Given the description of an element on the screen output the (x, y) to click on. 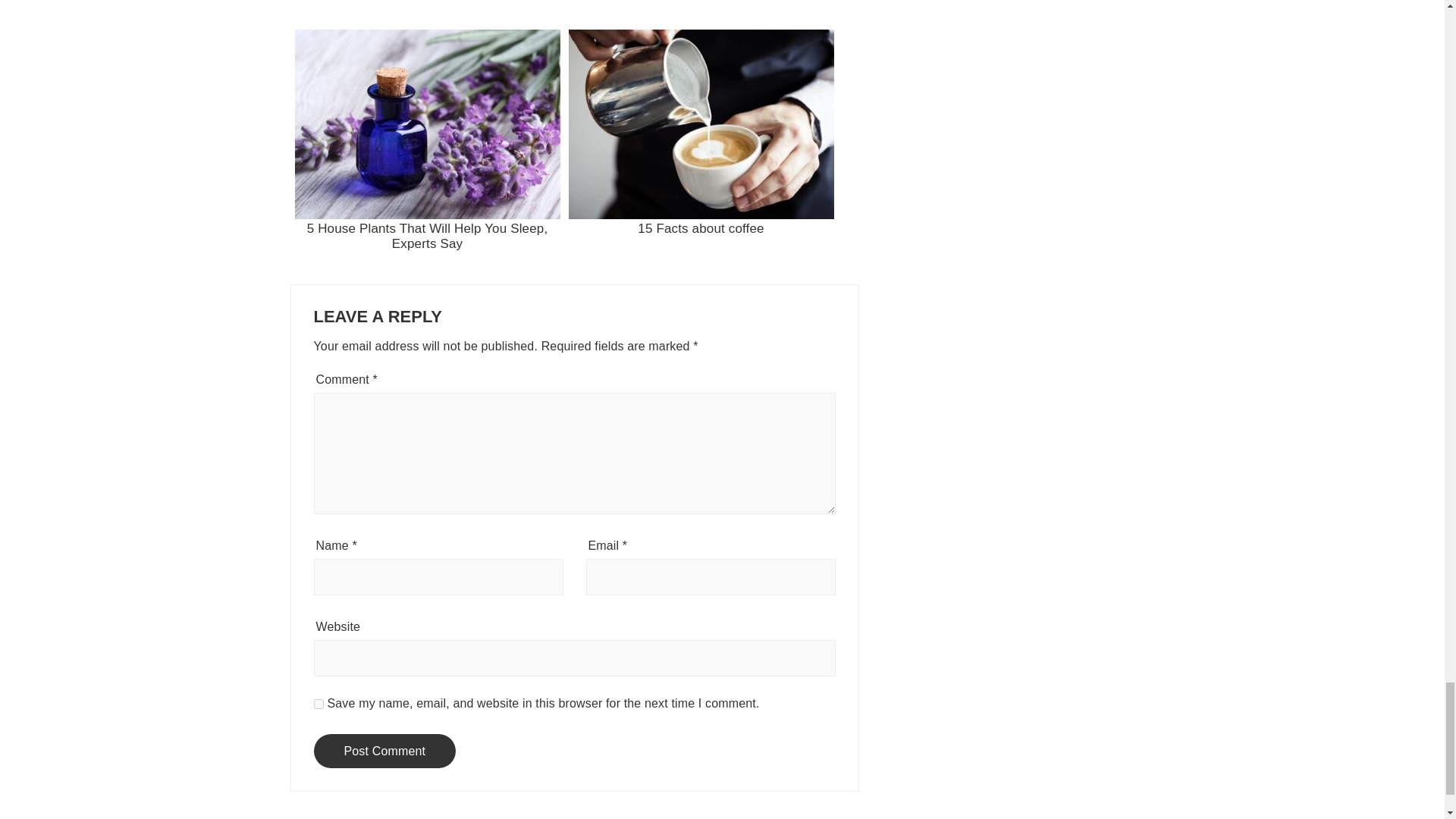
5 House Plants That Will Help You Sleep, Experts Say (426, 152)
Post Comment (385, 750)
Post Comment (385, 750)
7 Facts about Pregnancy (701, 10)
yes (318, 704)
7 Creepiest Places In The World (426, 10)
15 Facts about coffee (701, 152)
